Given the description of an element on the screen output the (x, y) to click on. 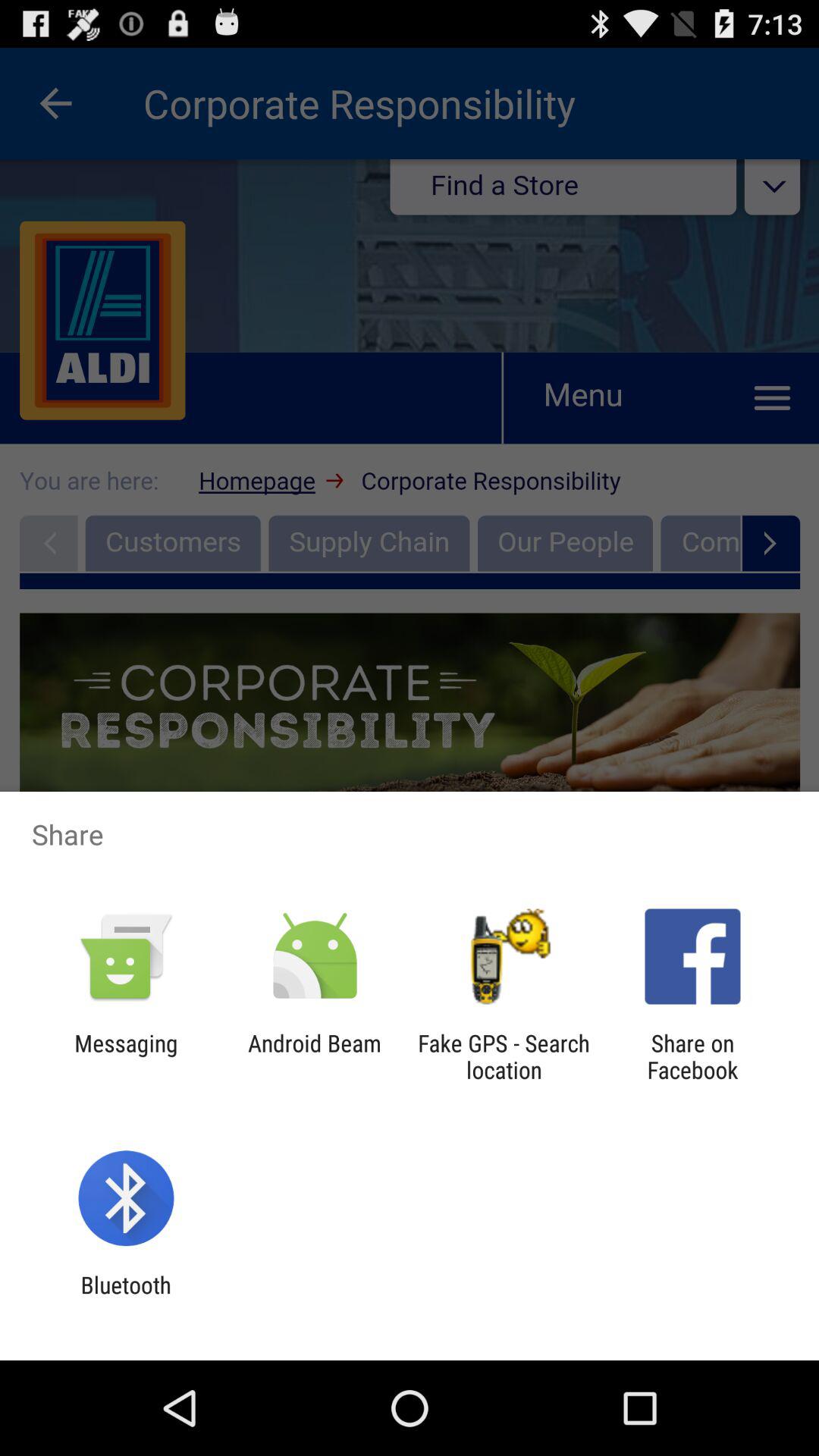
turn off the item next to fake gps search app (314, 1056)
